Given the description of an element on the screen output the (x, y) to click on. 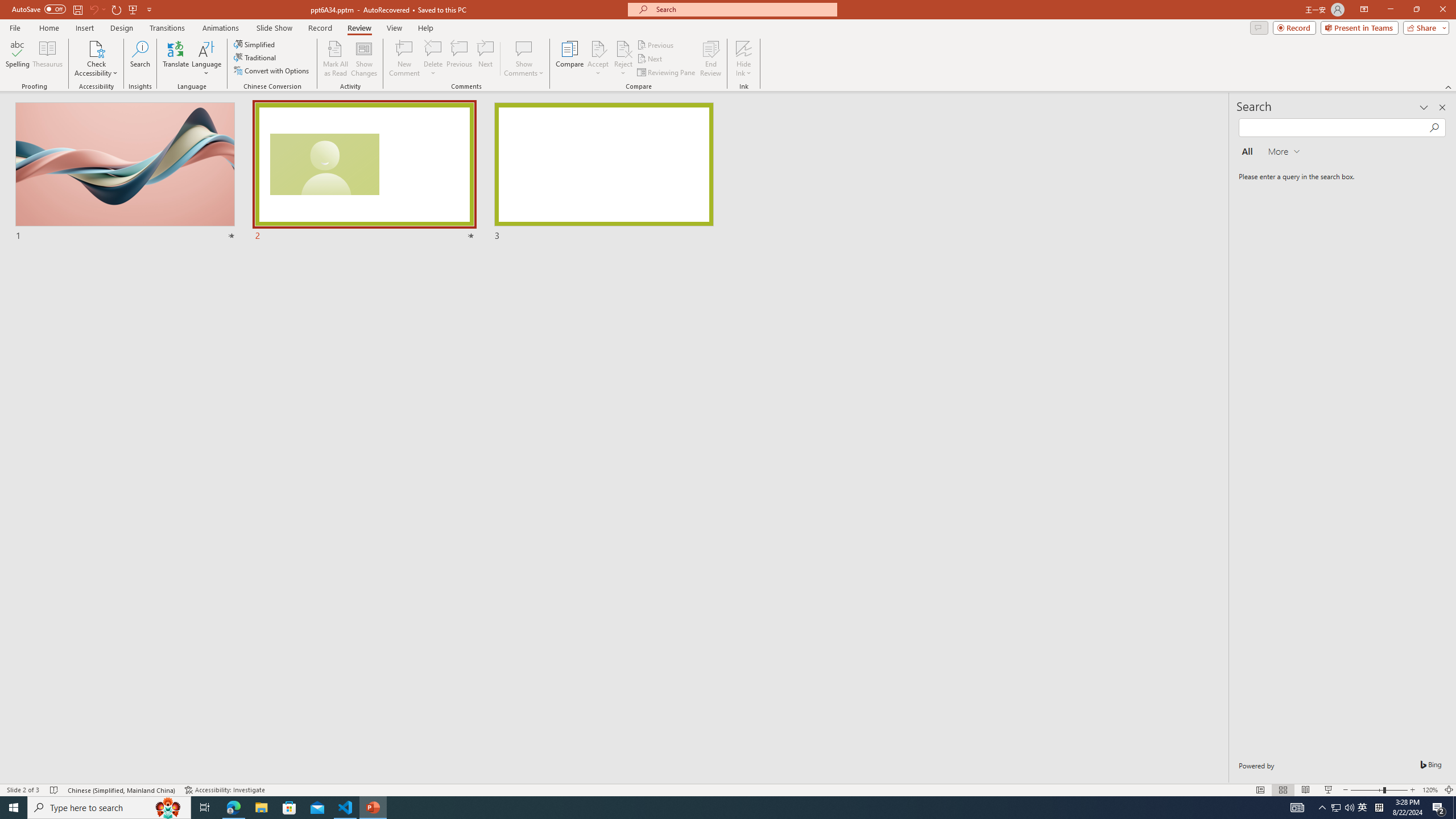
Accept (598, 58)
Reject Change (622, 48)
Reject (622, 58)
Compare (569, 58)
Reviewing Pane (666, 72)
